Given the description of an element on the screen output the (x, y) to click on. 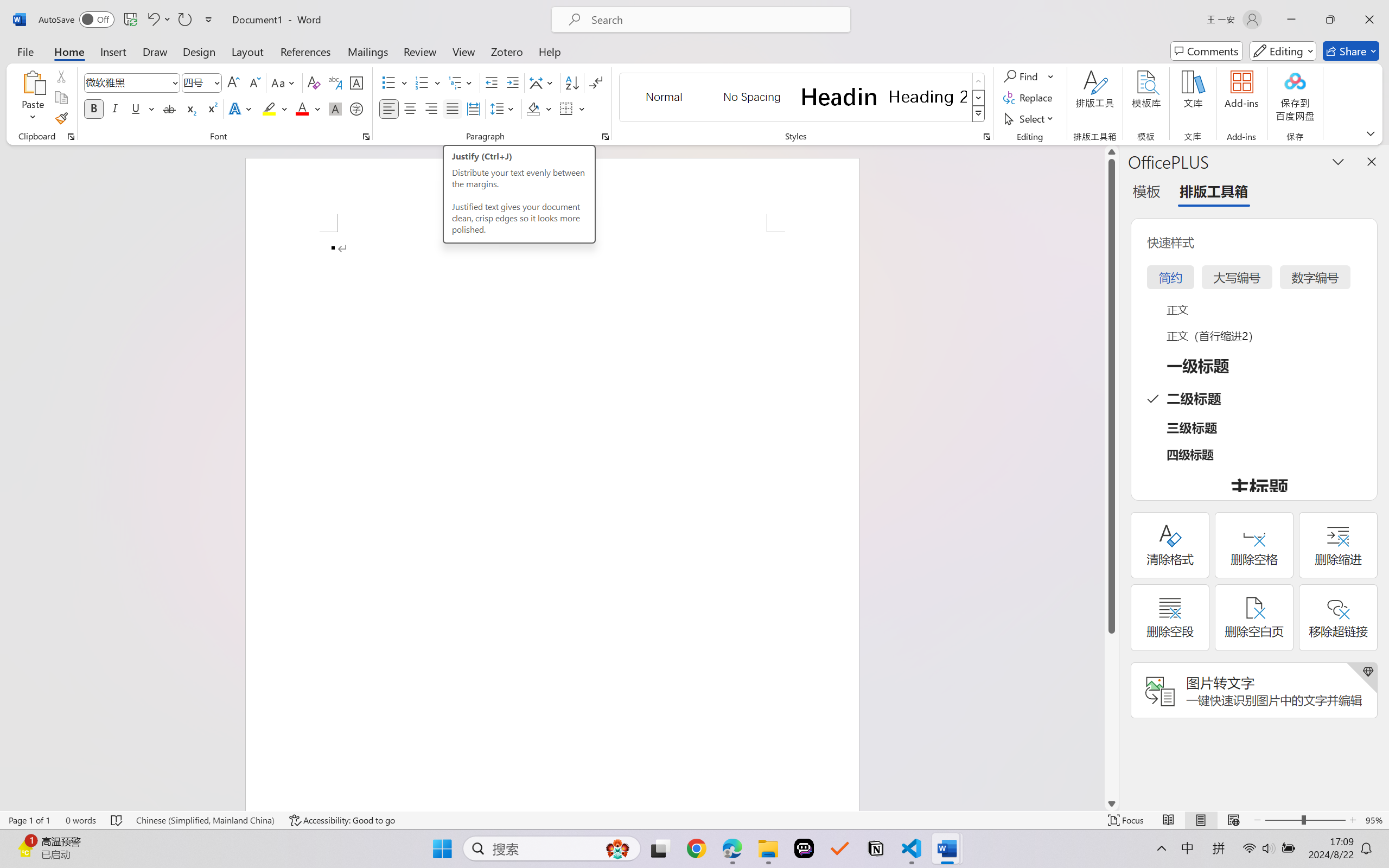
Page down (1111, 714)
Class: MsoCommandBar (694, 819)
Font Color Red (302, 108)
Undo <ApplyStyleToDoc>b__0 (152, 19)
